Given the description of an element on the screen output the (x, y) to click on. 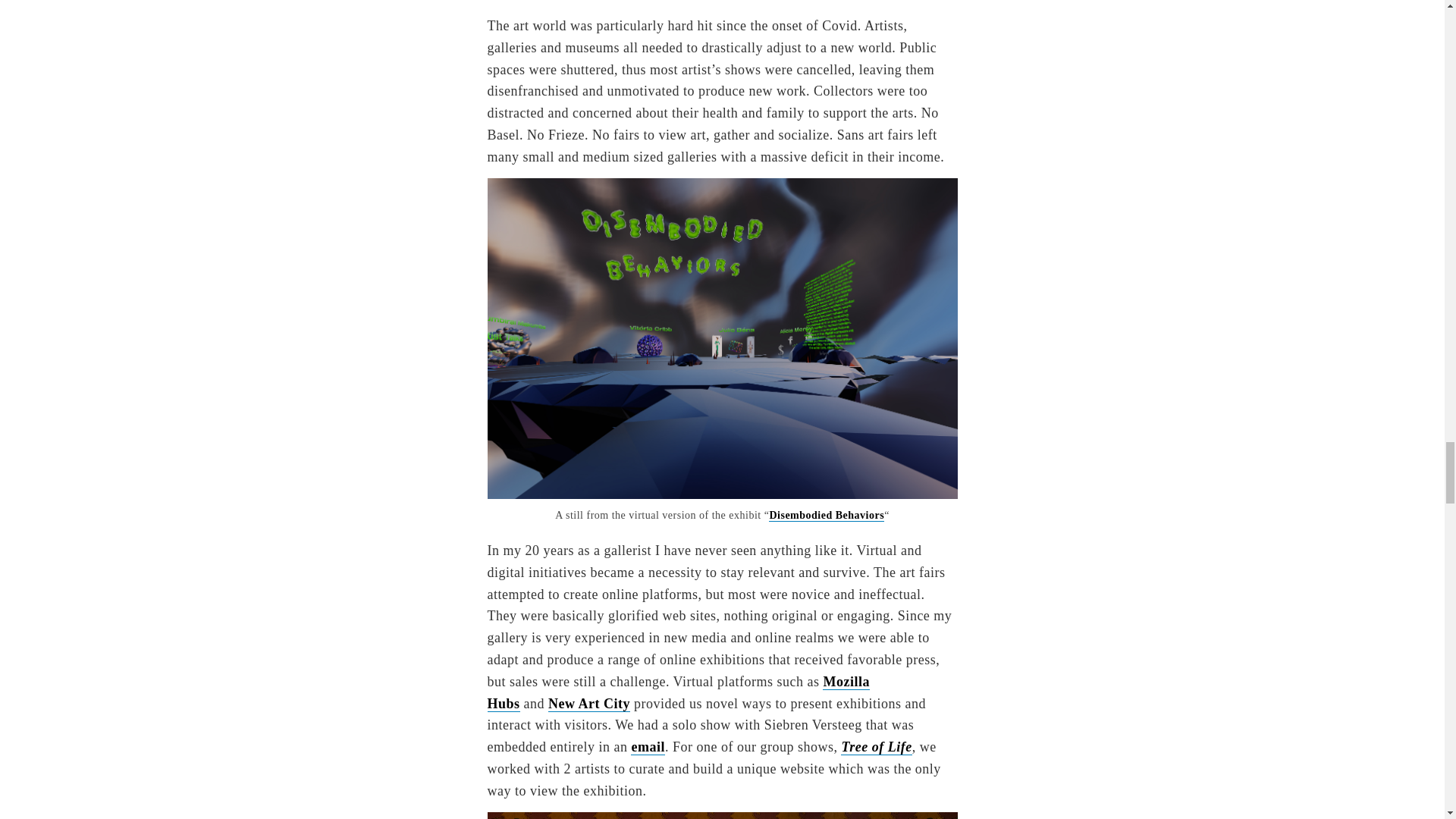
New Art City (589, 703)
email (647, 747)
Mozilla Hubs (677, 692)
Disembodied Behaviors (825, 515)
Tree of Life (876, 747)
